Given the description of an element on the screen output the (x, y) to click on. 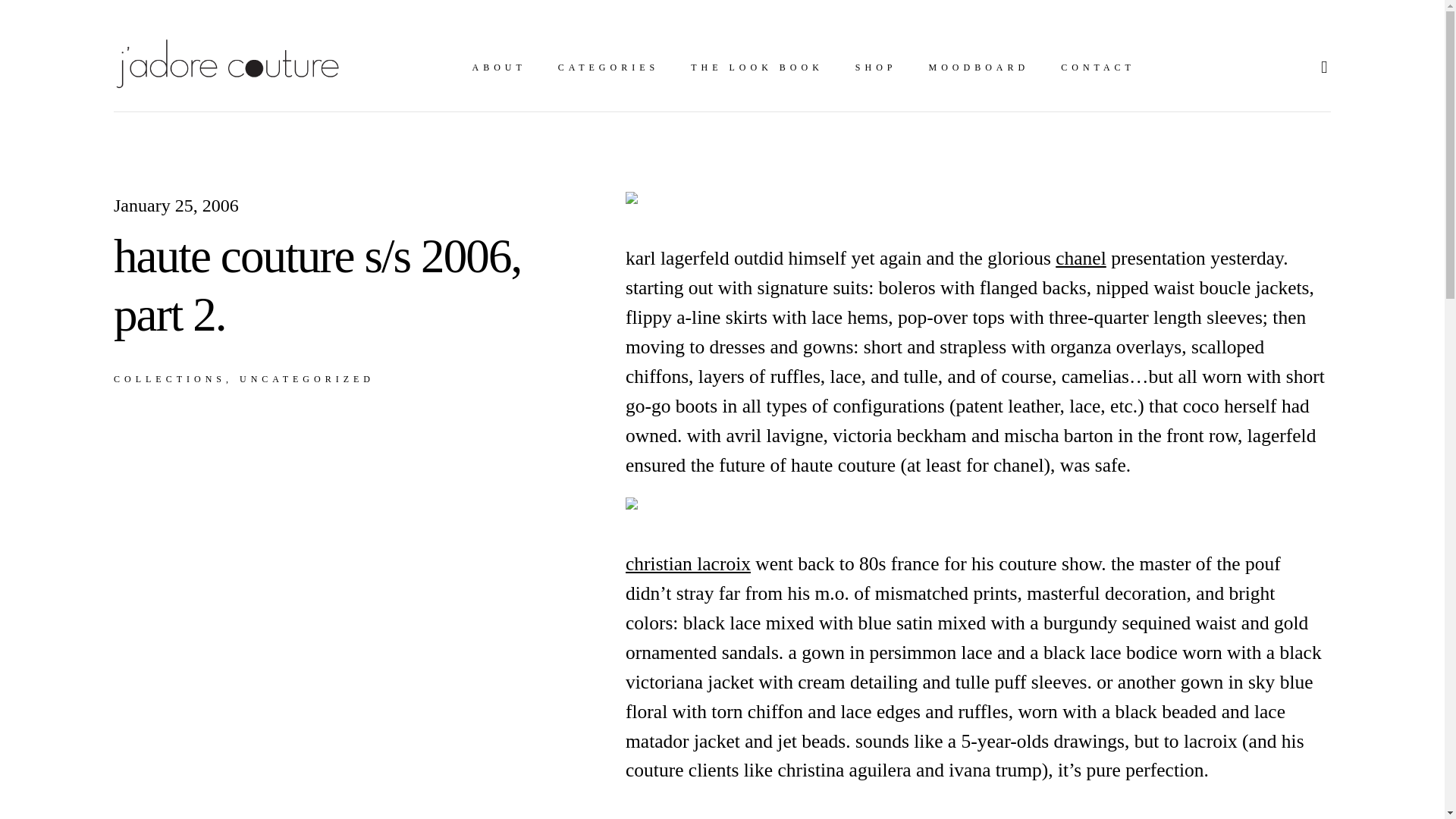
CATEGORIES (608, 67)
CONTACT (1098, 67)
ABOUT (498, 67)
chanel (1080, 258)
UNCATEGORIZED (307, 378)
COLLECTIONS (172, 378)
MOODBOARD (978, 67)
THE LOOK BOOK (757, 67)
christian lacroix (688, 563)
SHOP (876, 67)
